Given the description of an element on the screen output the (x, y) to click on. 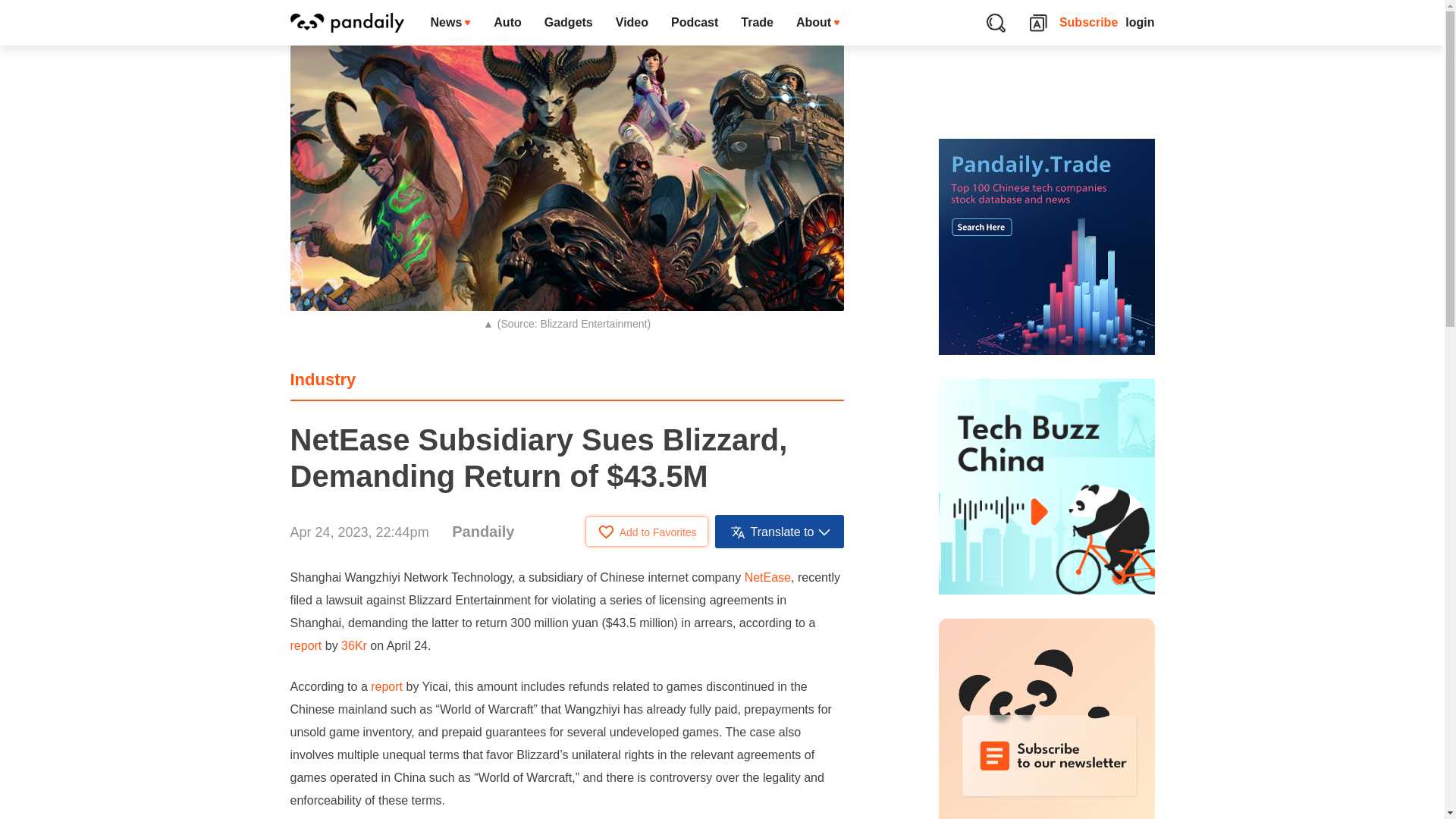
News (450, 22)
Apr 24, 2023, 22:44pm (358, 531)
Podcast (694, 22)
About (817, 22)
Add to Favorites (646, 531)
Subscribe (1088, 22)
Pandaily (482, 531)
login (1139, 22)
Trade (756, 22)
Video (631, 22)
Auto (506, 22)
Translate to (779, 531)
Gadgets (568, 22)
Industry (322, 379)
